Given the description of an element on the screen output the (x, y) to click on. 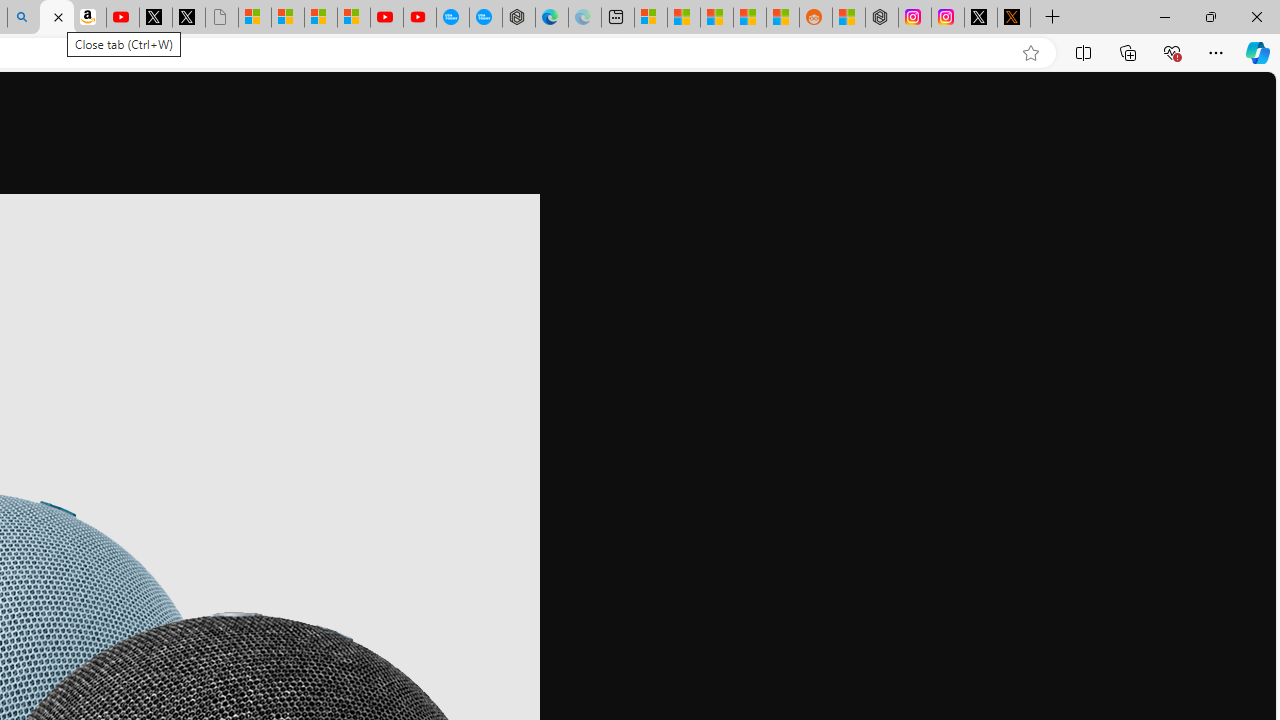
Shanghai, China hourly forecast | Microsoft Weather (717, 17)
X (188, 17)
Shanghai, China Weather trends | Microsoft Weather (782, 17)
Nordace - Summer Adventures 2024 (882, 17)
Day 1: Arriving in Yemen (surreal to be here) - YouTube (123, 17)
Nordace - Nordace has arrived Hong Kong (519, 17)
